Given the description of an element on the screen output the (x, y) to click on. 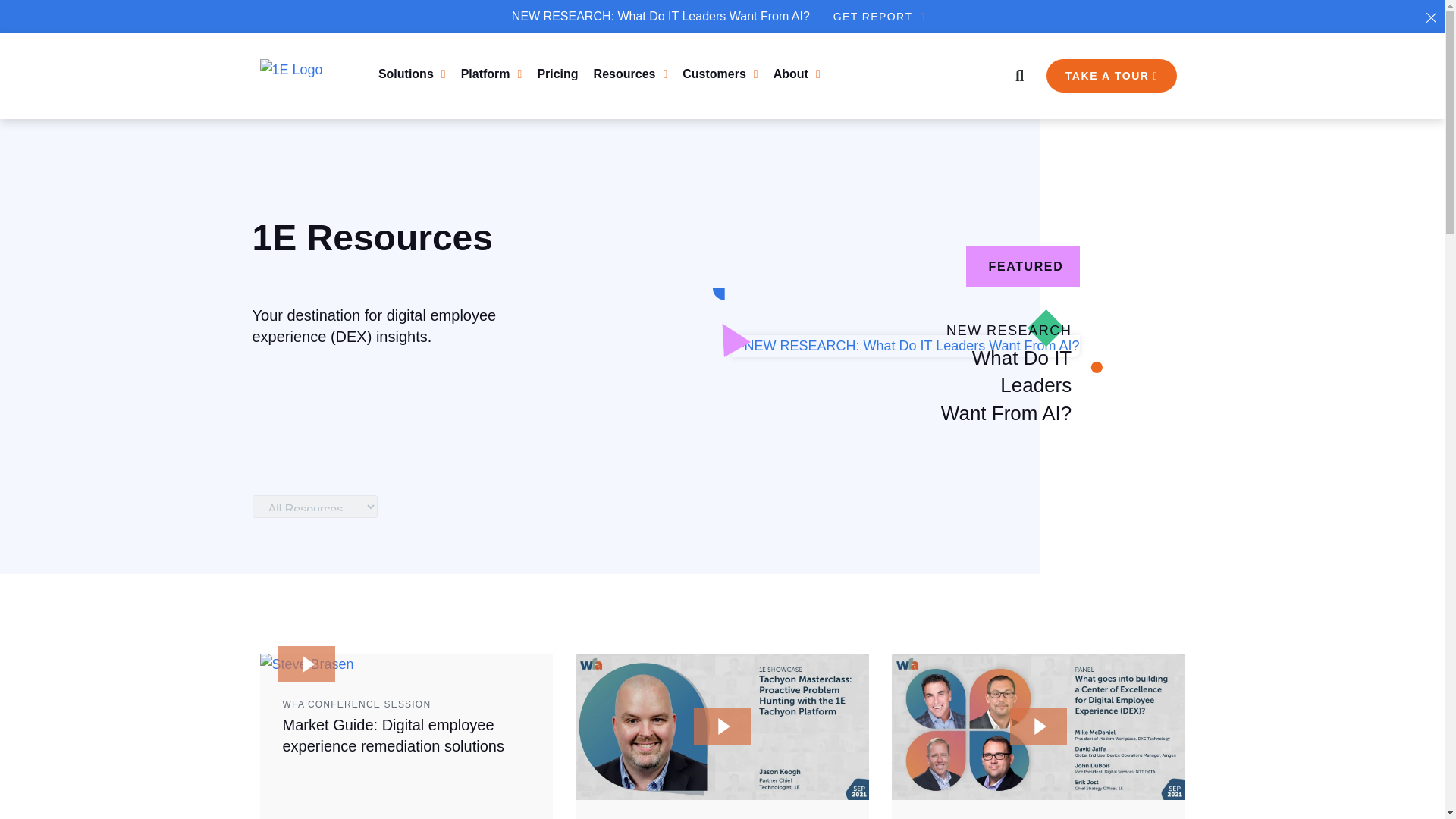
WFA-SEP21-Panel (1038, 726)
GET REPORT (878, 16)
Managing Reserach Director, EMA - Steve Brasen (306, 664)
WFA SEP21-Jason Keogh (722, 726)
1E Logo (296, 75)
